Given the description of an element on the screen output the (x, y) to click on. 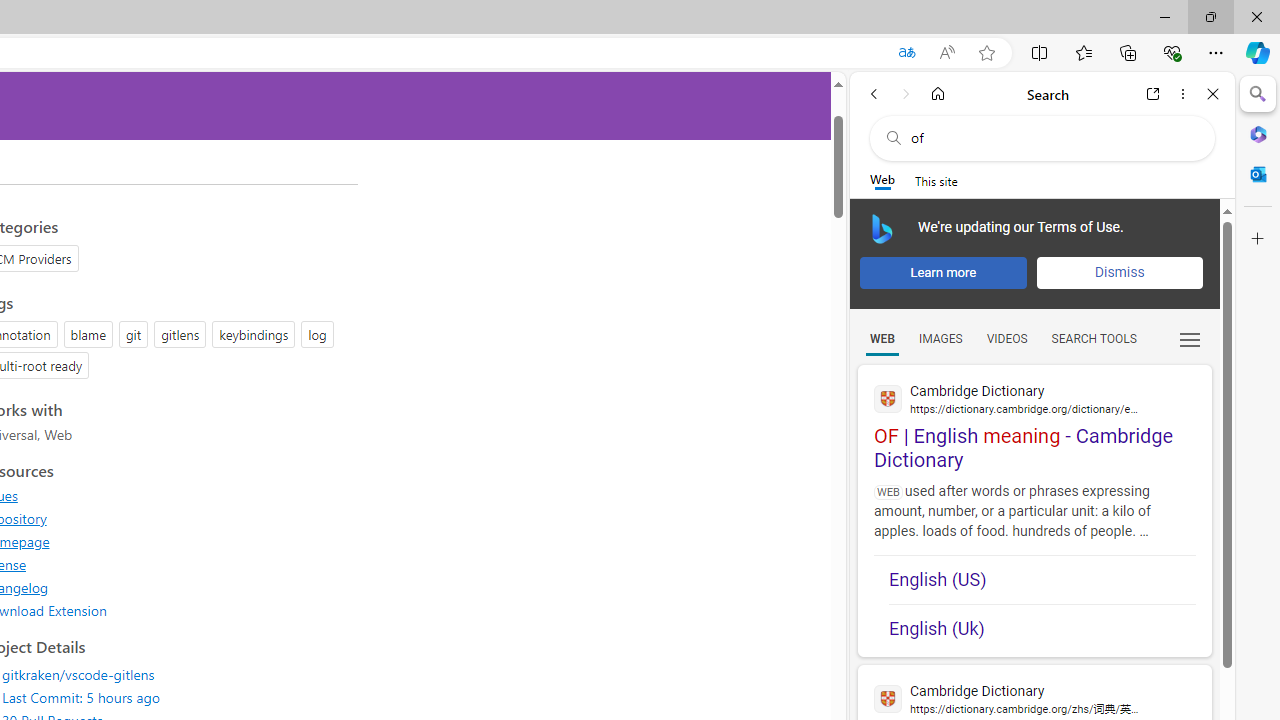
English (Uk) (1042, 622)
English (Uk) (1042, 628)
